Given the description of an element on the screen output the (x, y) to click on. 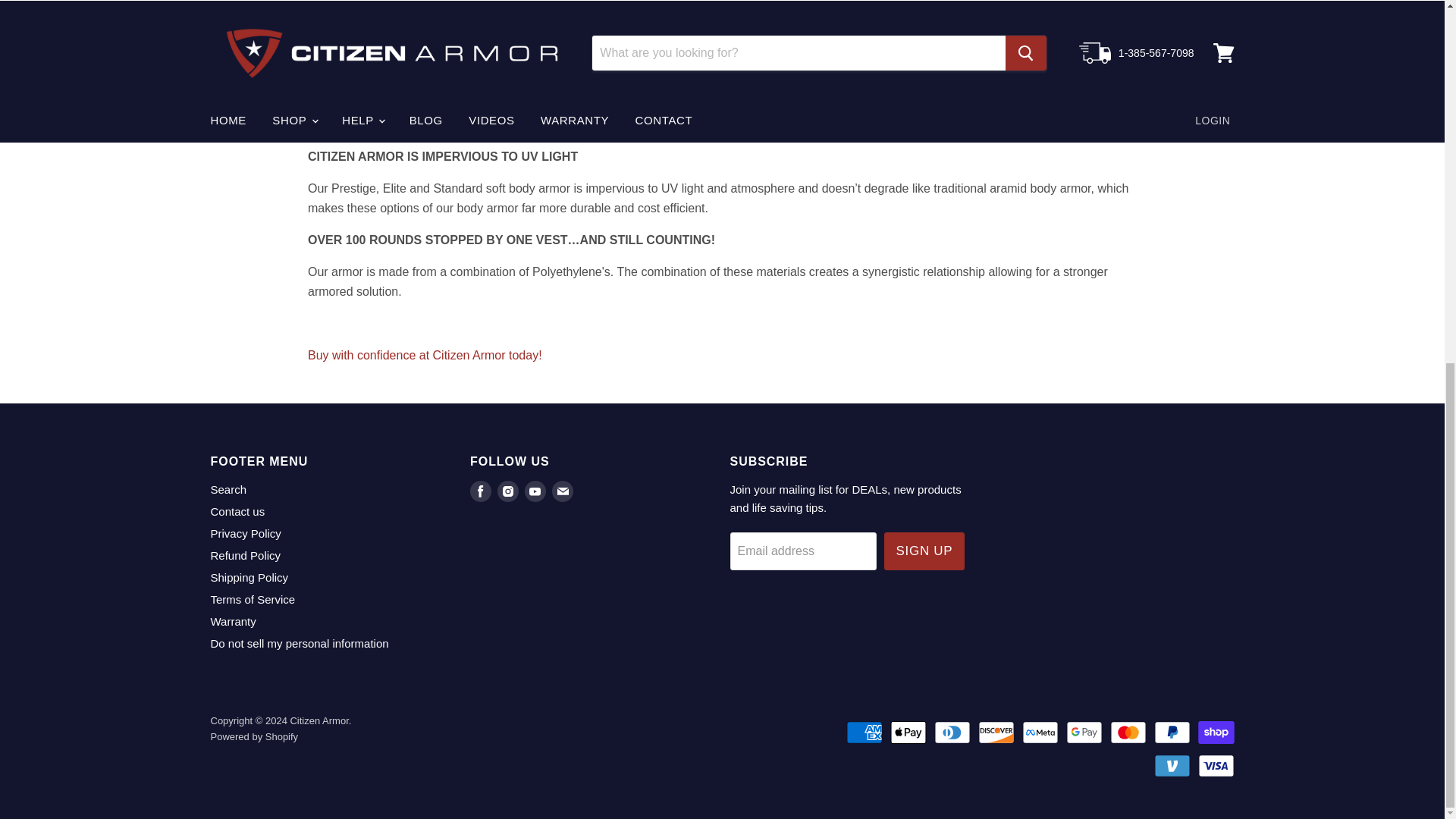
Youtube (535, 491)
Meta Pay (1040, 732)
Facebook (481, 491)
Shop Pay (1216, 732)
PayPal (1172, 732)
Venmo (1172, 765)
All citizen armor products (424, 354)
Instagram (507, 491)
Visa (1216, 765)
Discover (996, 732)
Mastercard (1128, 732)
American Express (863, 732)
Google Pay (1083, 732)
Email (562, 491)
Apple Pay (907, 732)
